Given the description of an element on the screen output the (x, y) to click on. 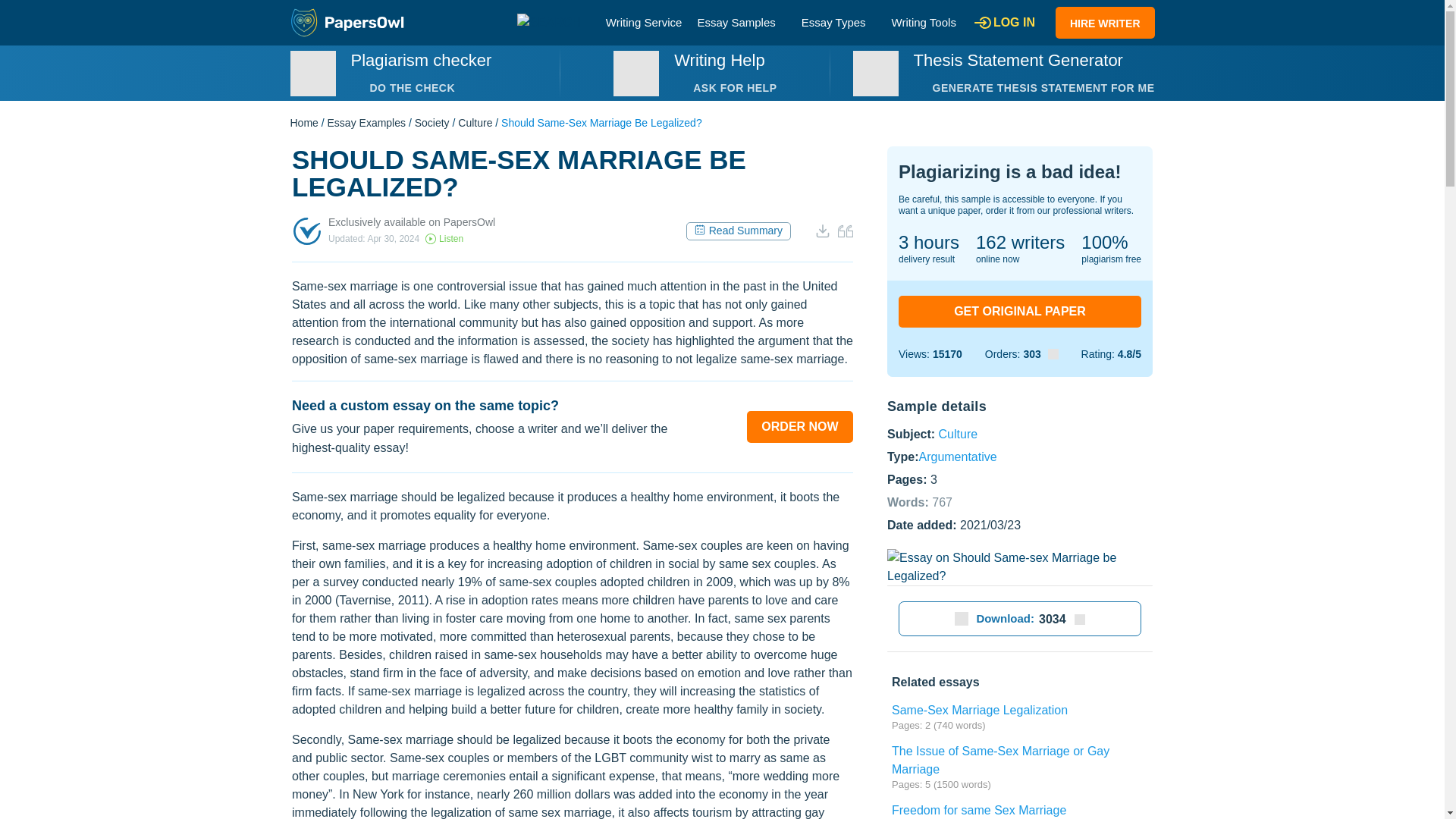
Writing Service (643, 21)
image (875, 72)
Should Same-sex Marriage be Legalized? (1019, 566)
image (635, 72)
image (311, 72)
